Given the description of an element on the screen output the (x, y) to click on. 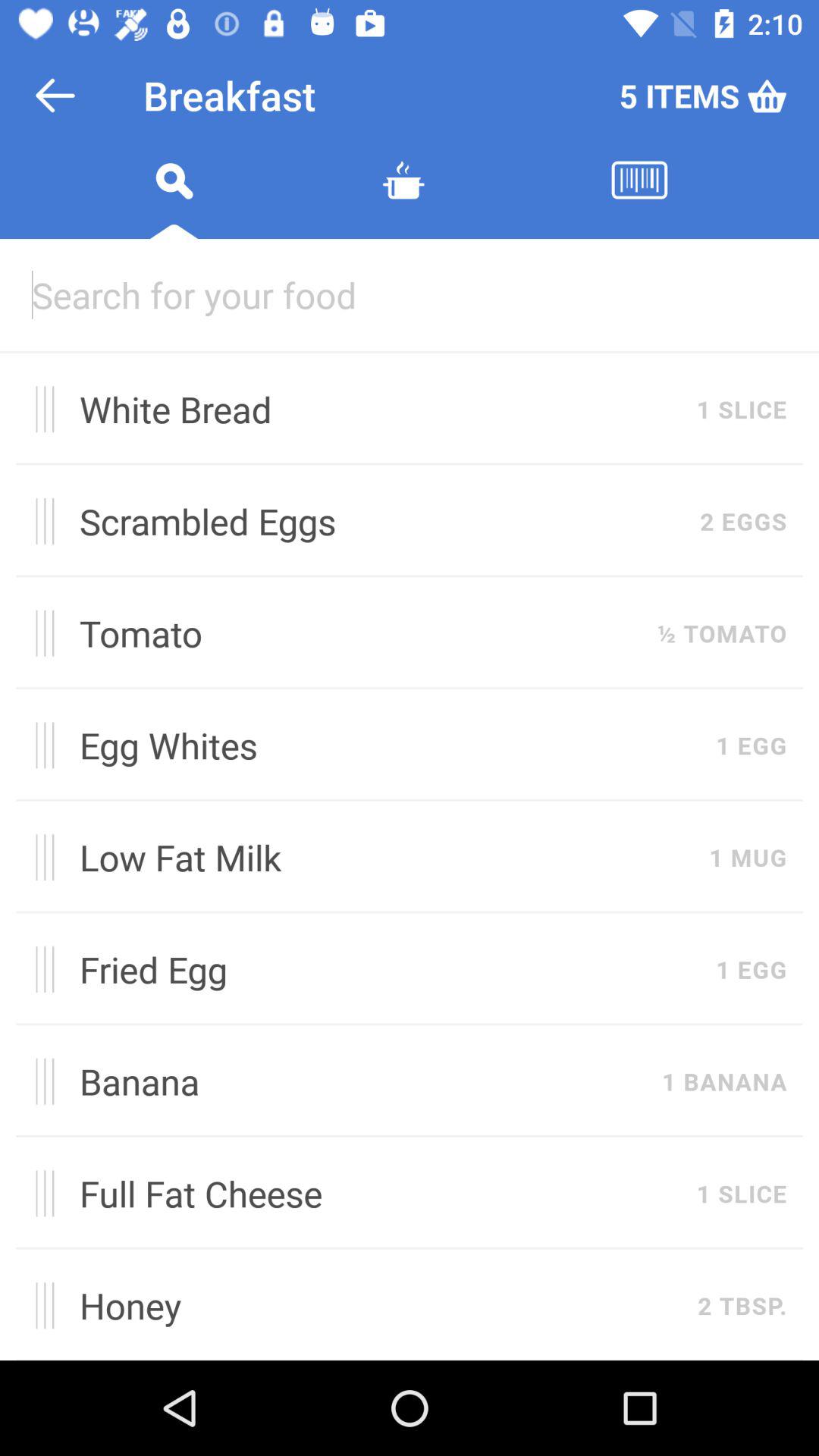
open item to the right of the scrambled eggs (743, 521)
